Given the description of an element on the screen output the (x, y) to click on. 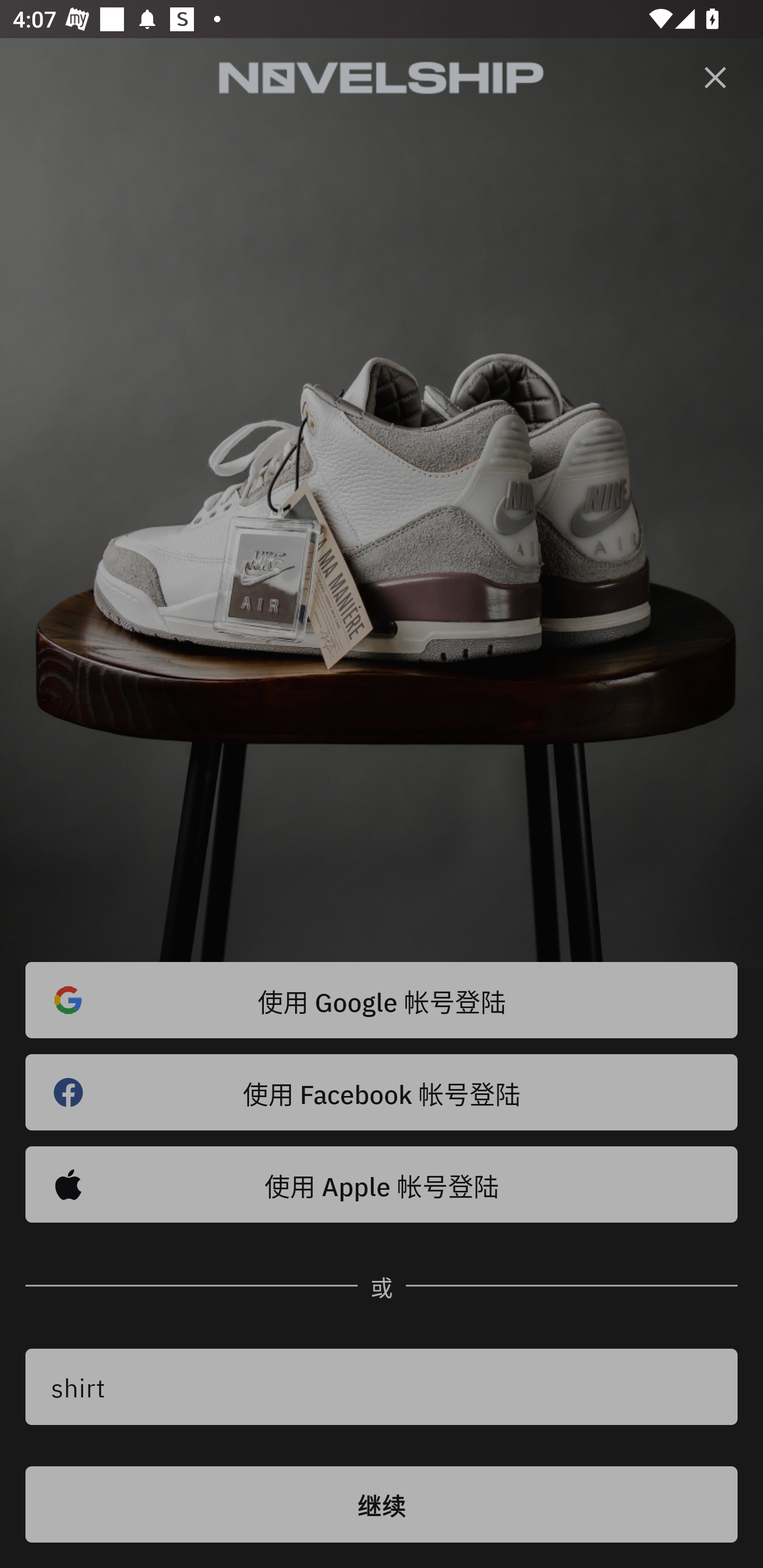
使用 Google 帐号登陆 (381, 1000)
使用 Facebook 帐号登陆 󰈌 (381, 1091)
 使用 Apple 帐号登陆 (381, 1184)
shirt (381, 1386)
继续 (381, 1504)
